Given the description of an element on the screen output the (x, y) to click on. 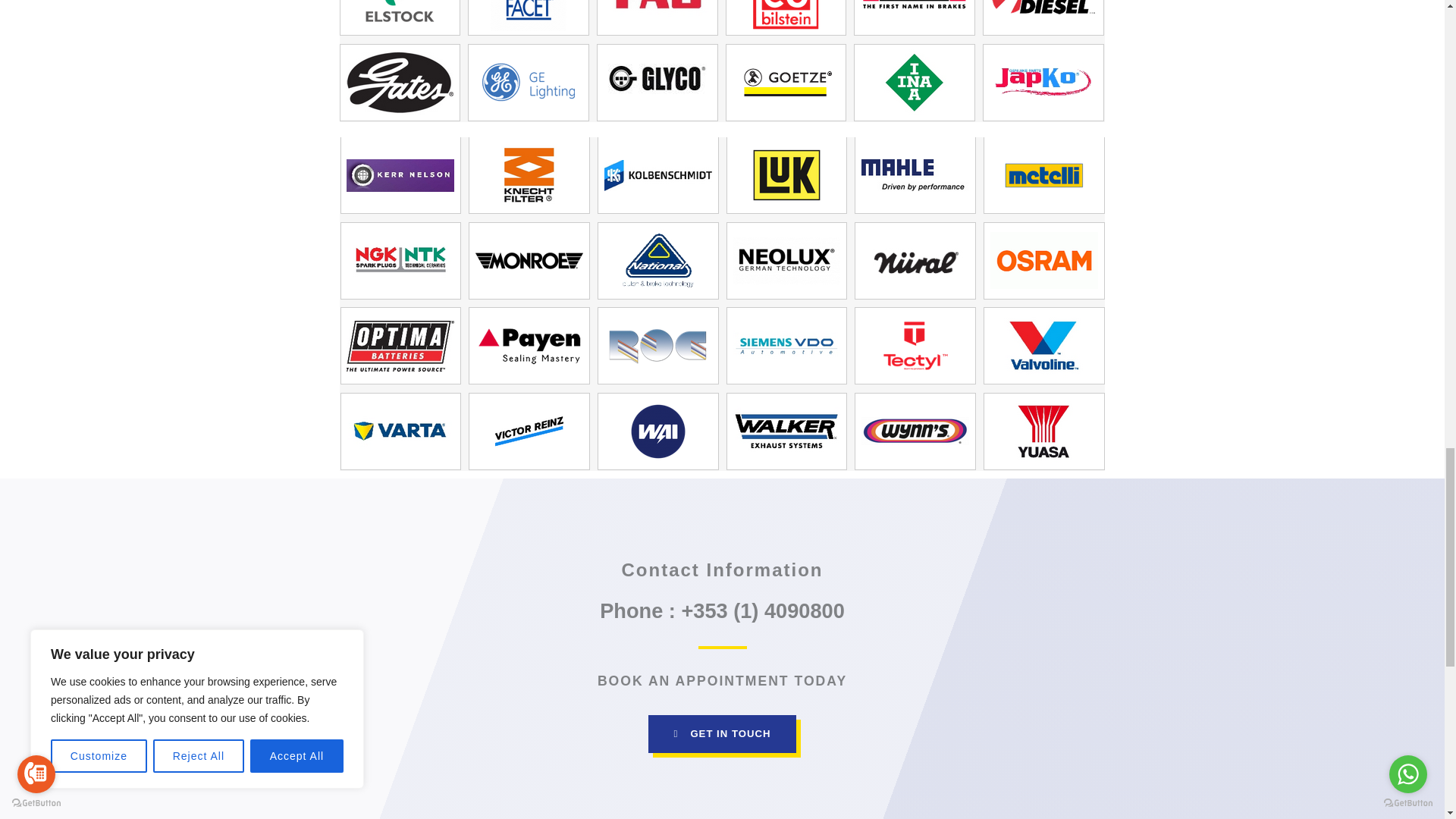
GET IN TOUCH (721, 733)
